Given the description of an element on the screen output the (x, y) to click on. 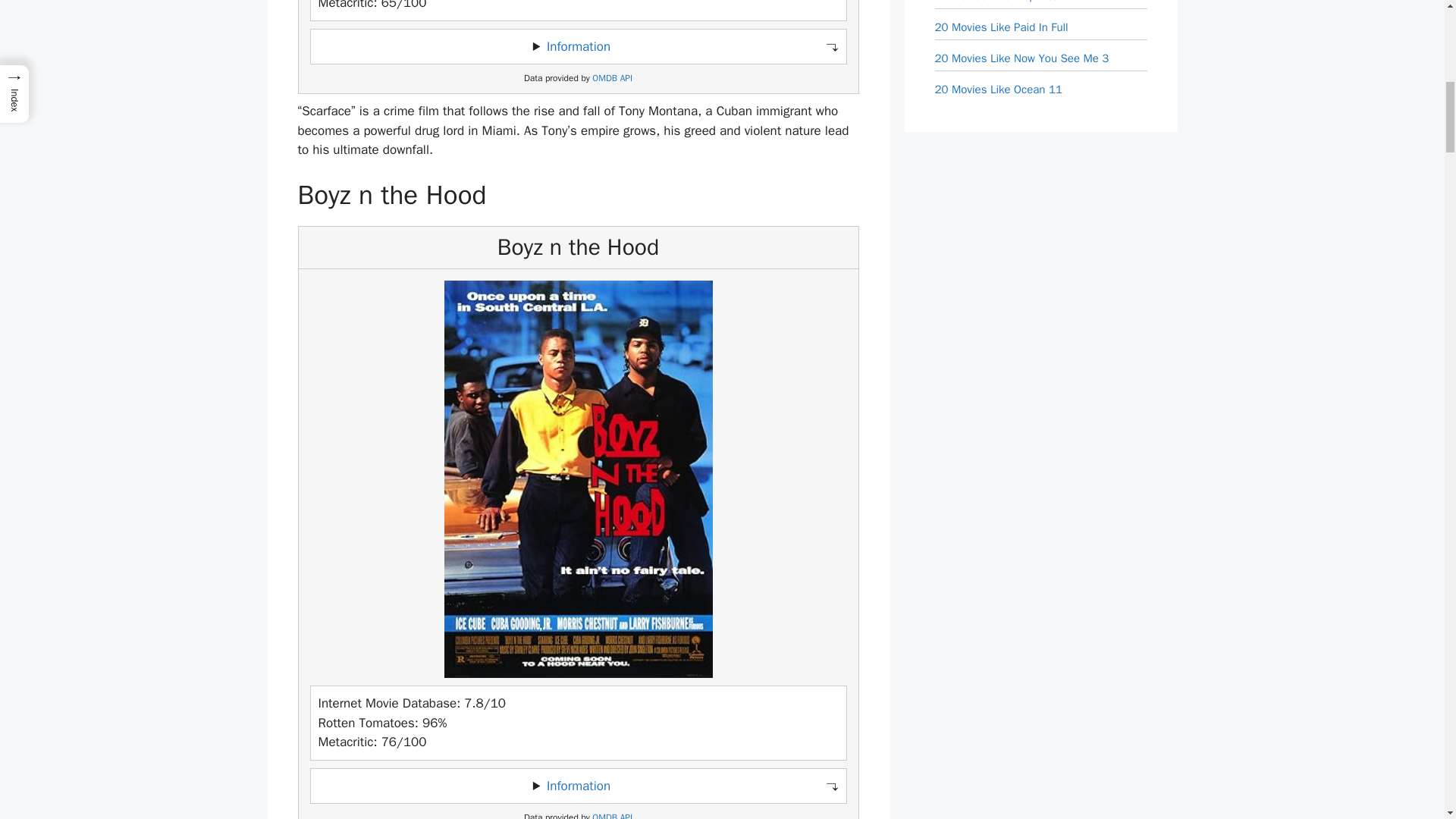
OMDB API (611, 78)
Toggle information (578, 786)
Information (578, 46)
Information (578, 785)
OMDB API (611, 815)
Toggle information (578, 46)
Open Movie Database API (611, 815)
Open Movie Database API (611, 78)
